Given the description of an element on the screen output the (x, y) to click on. 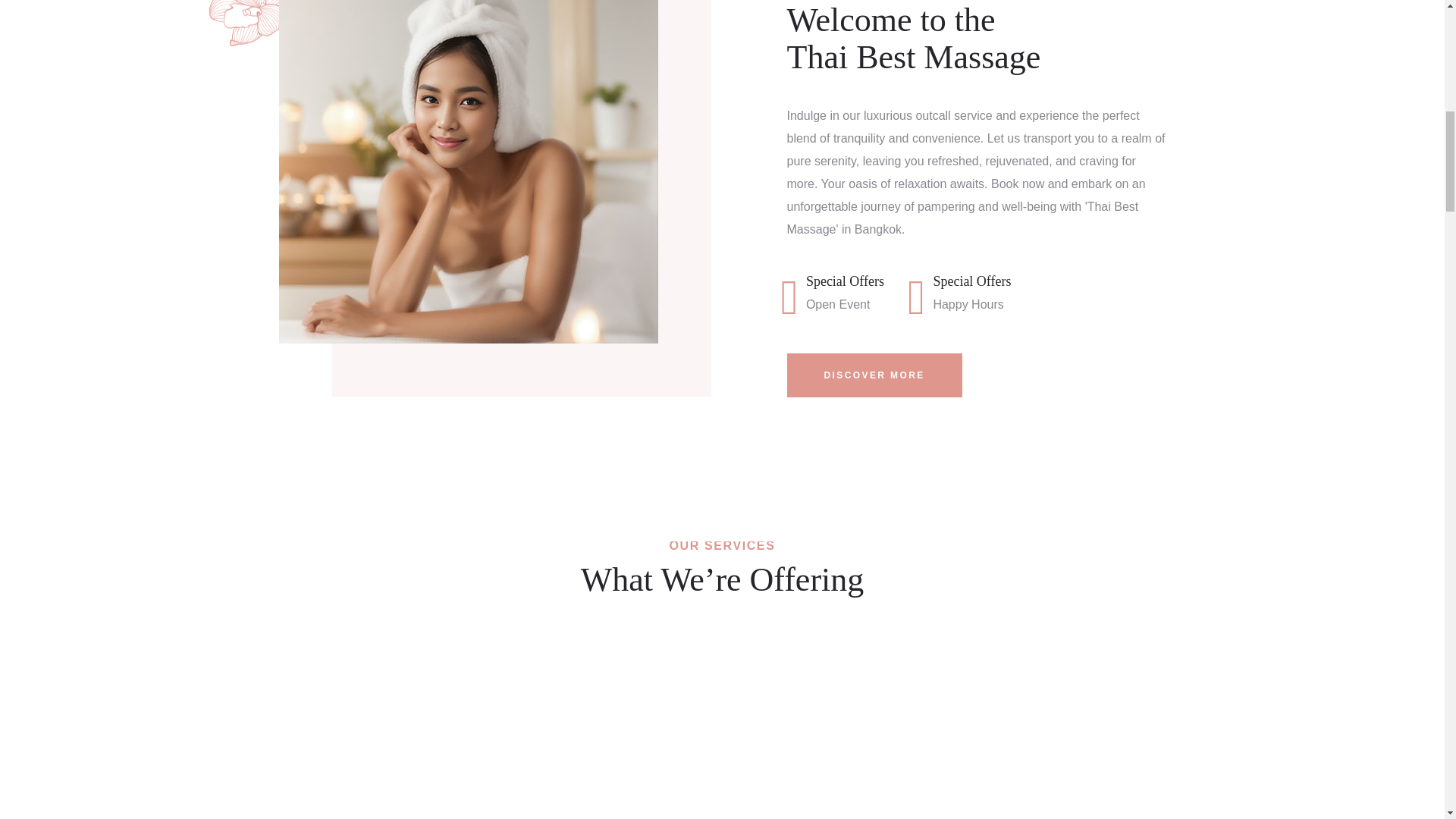
DISCOVER MORE (874, 374)
